Given the description of an element on the screen output the (x, y) to click on. 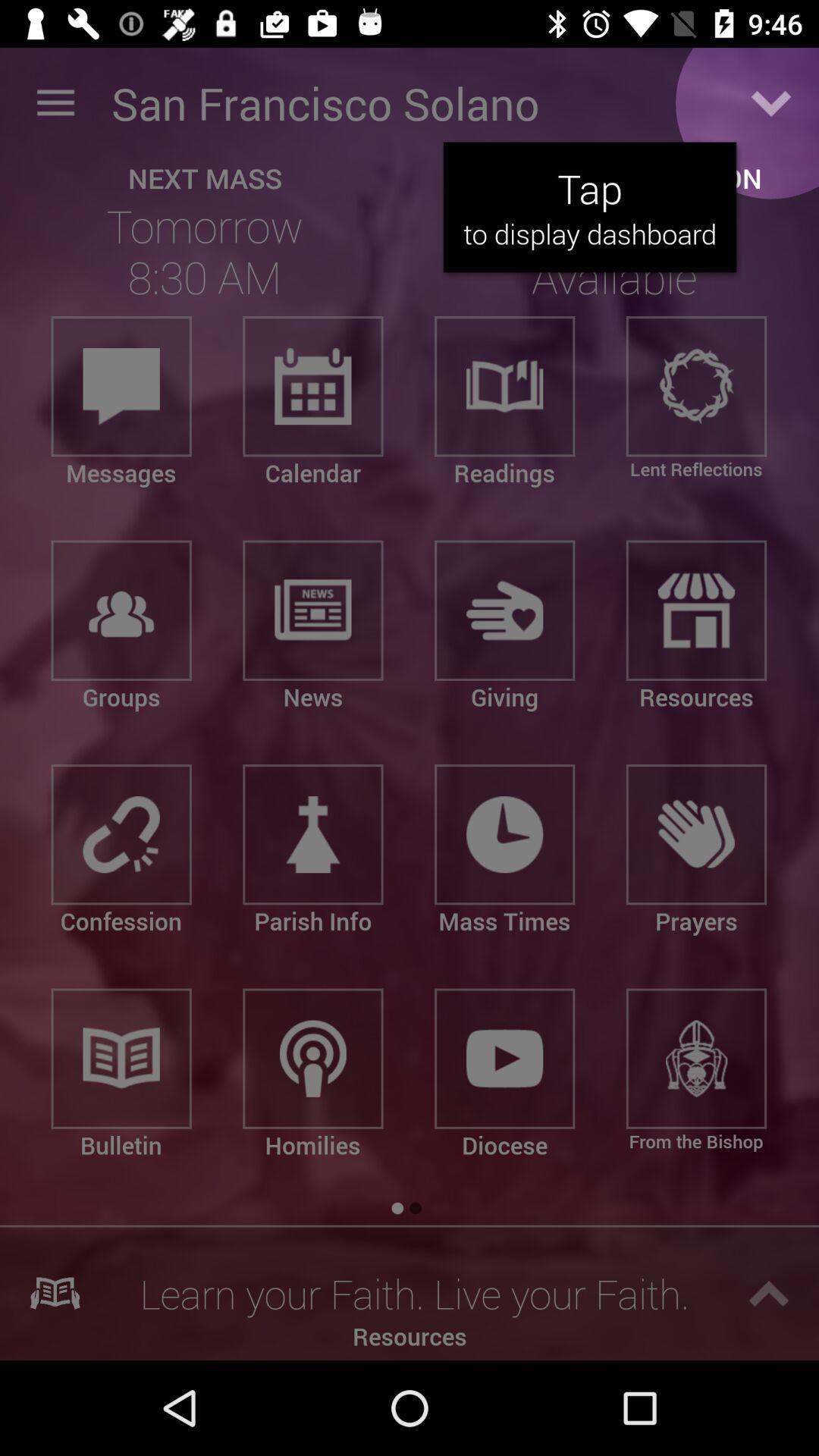
display dashboard (771, 103)
